Given the description of an element on the screen output the (x, y) to click on. 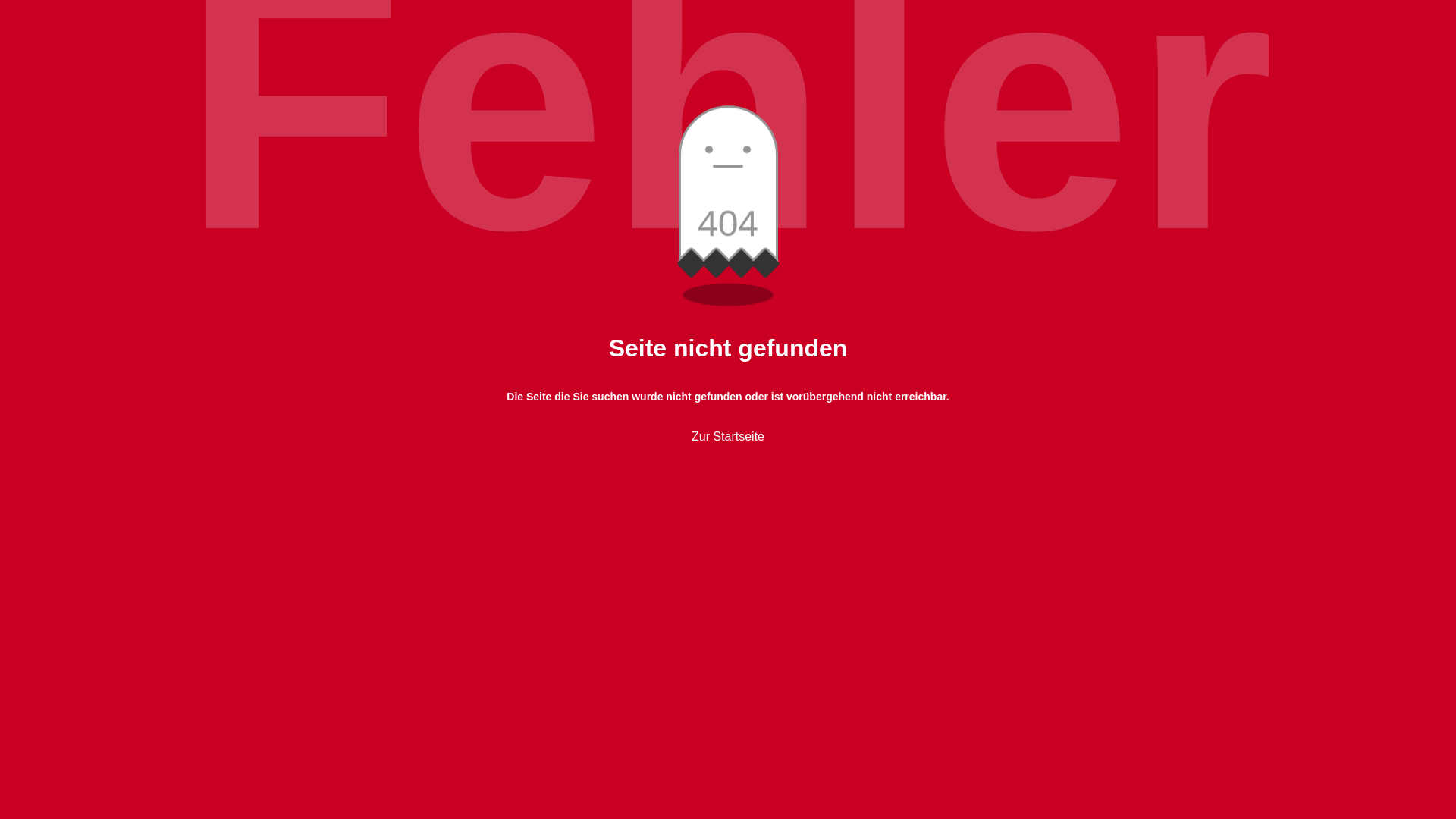
Zur Startseite Element type: text (727, 435)
